Given the description of an element on the screen output the (x, y) to click on. 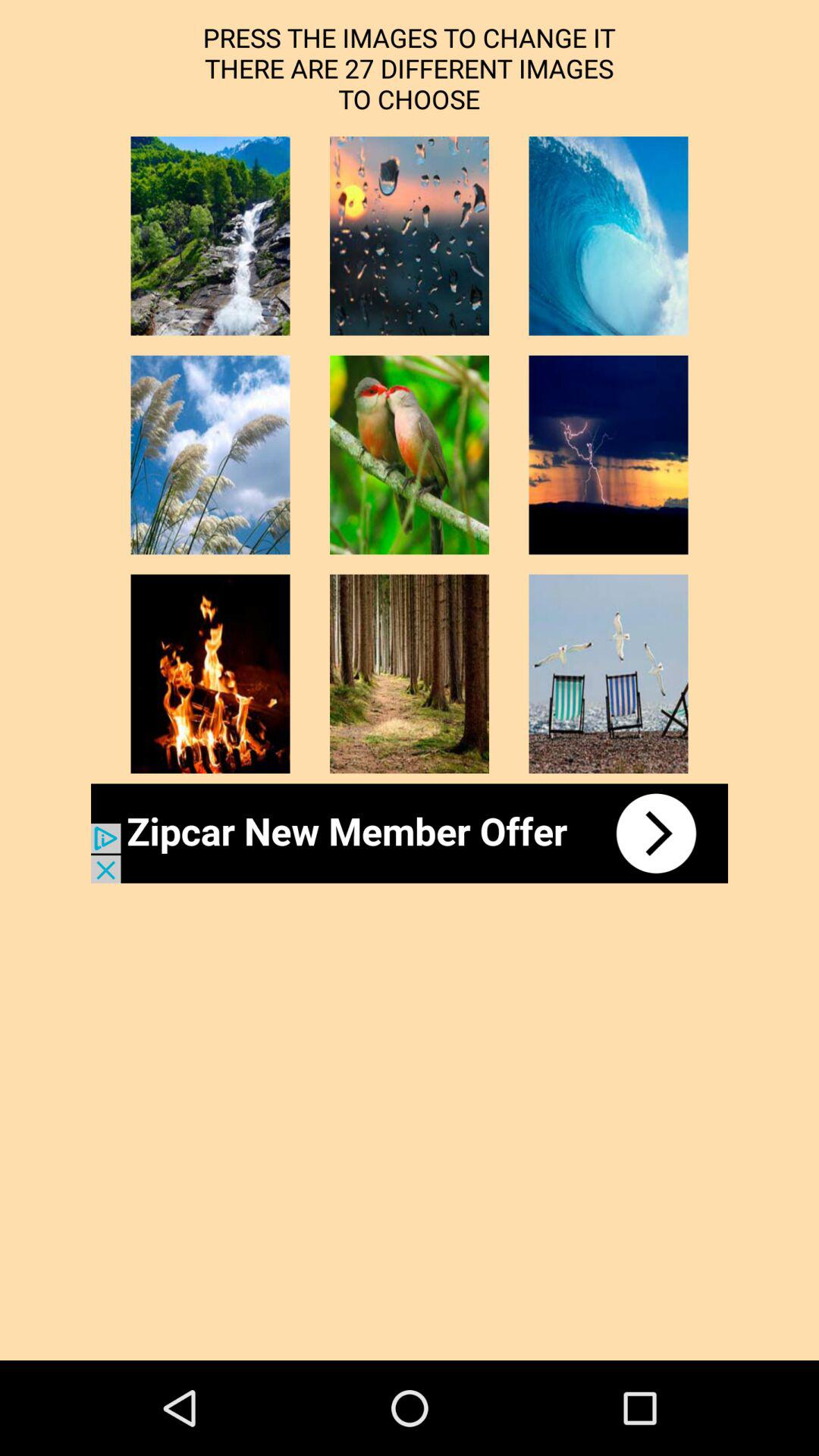
select image (210, 235)
